Given the description of an element on the screen output the (x, y) to click on. 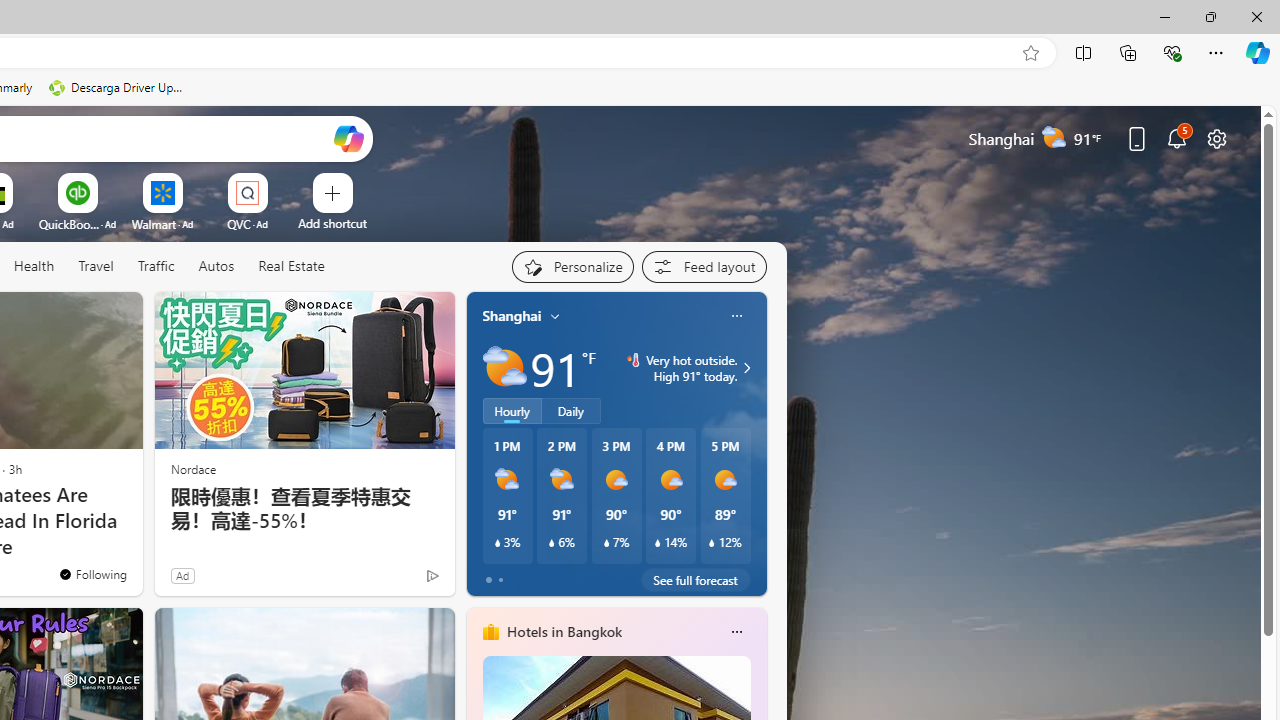
Hotels in Bangkok (563, 631)
Hide this story (82, 315)
